Given the description of an element on the screen output the (x, y) to click on. 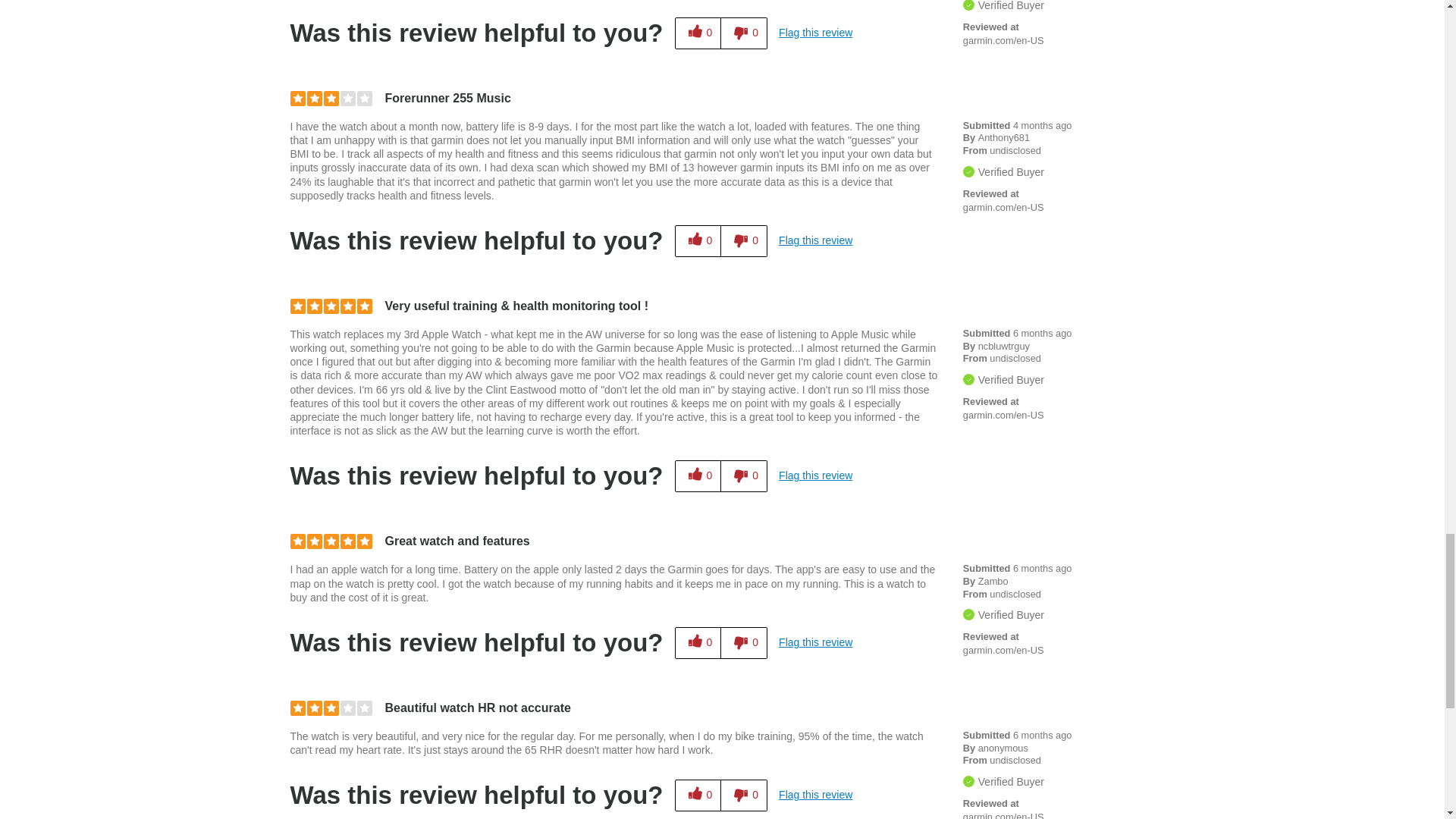
Verified Buyer (968, 5)
